Given the description of an element on the screen output the (x, y) to click on. 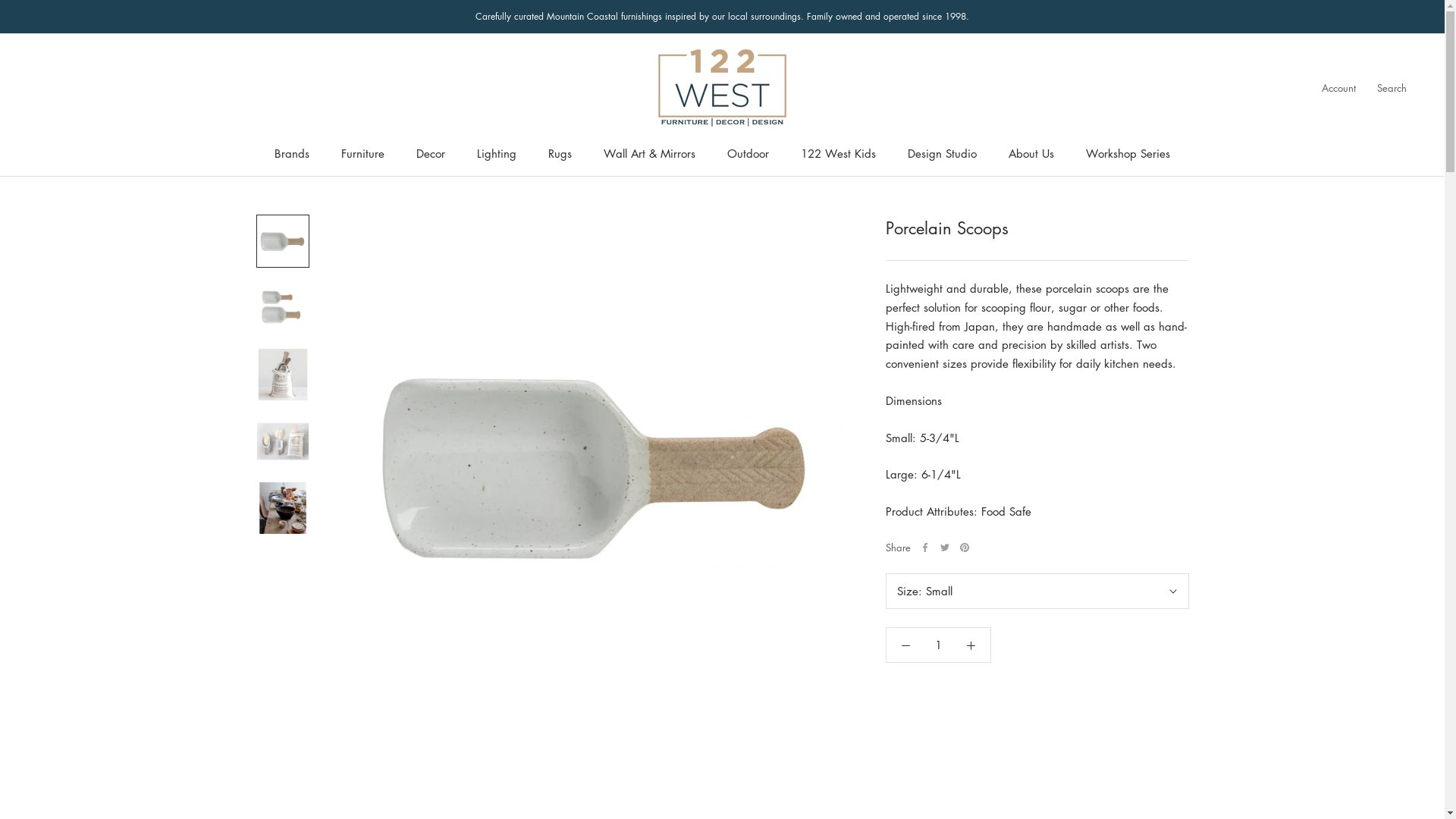
Rugs Element type: text (559, 152)
Wall Art & Mirrors Element type: text (649, 152)
Size: Small Element type: text (1037, 590)
Brands
Brands Element type: text (291, 152)
Decor Element type: text (430, 152)
Account Element type: text (1338, 87)
About Us Element type: text (1031, 152)
Lighting Element type: text (496, 152)
Design Studio Element type: text (941, 152)
122 West Kids Element type: text (837, 152)
Search Element type: text (1391, 87)
Outdoor Element type: text (747, 152)
Workshop Series
Workshop Series Element type: text (1127, 152)
Furniture Element type: text (362, 152)
